Given the description of an element on the screen output the (x, y) to click on. 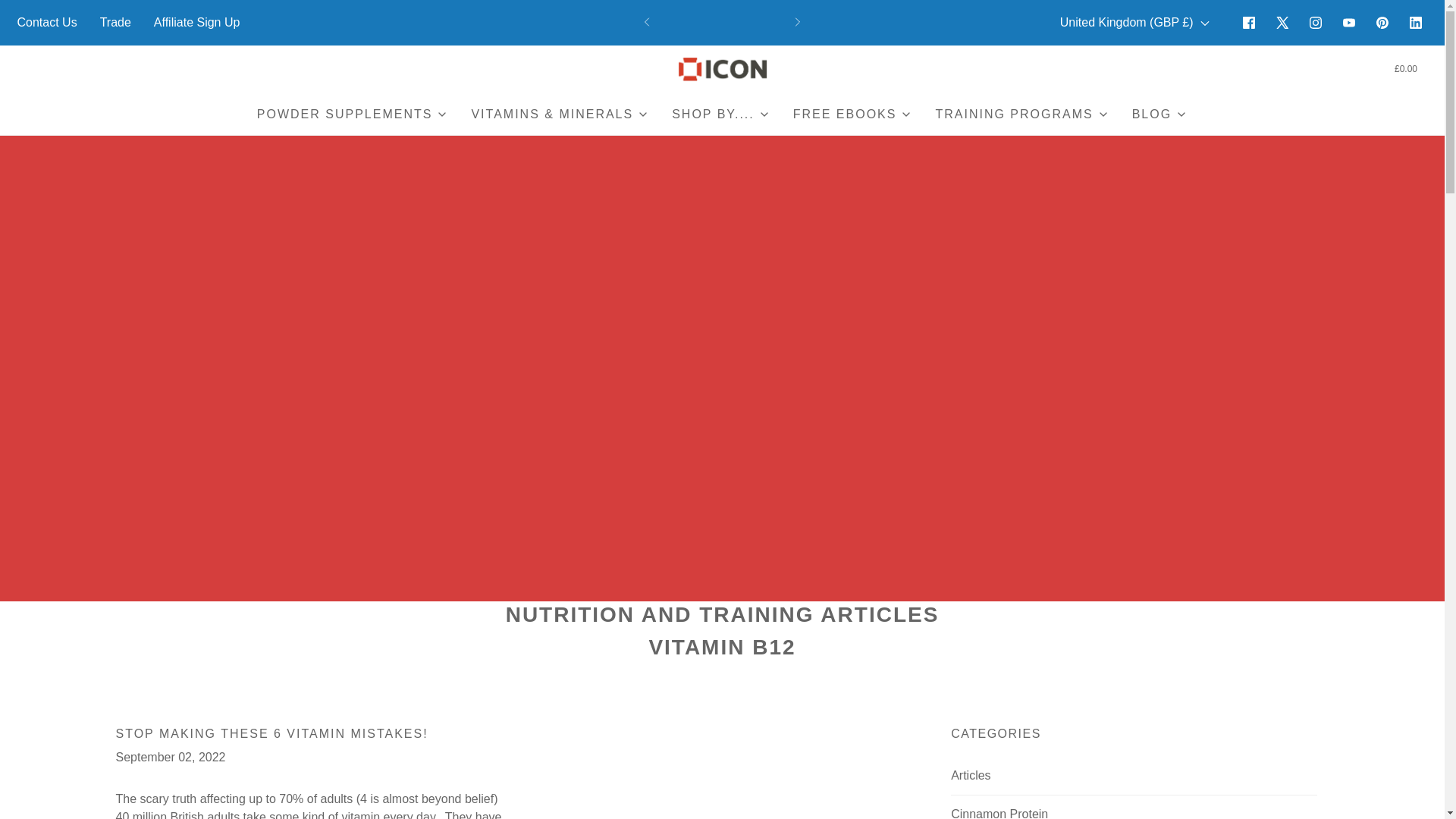
Trade (115, 22)
Contact Us (46, 22)
Show articles tagged Cinnamon Protein (1133, 811)
Show articles tagged Articles (1133, 775)
Cart (1404, 68)
Affiliate Sign Up (197, 22)
